Given the description of an element on the screen output the (x, y) to click on. 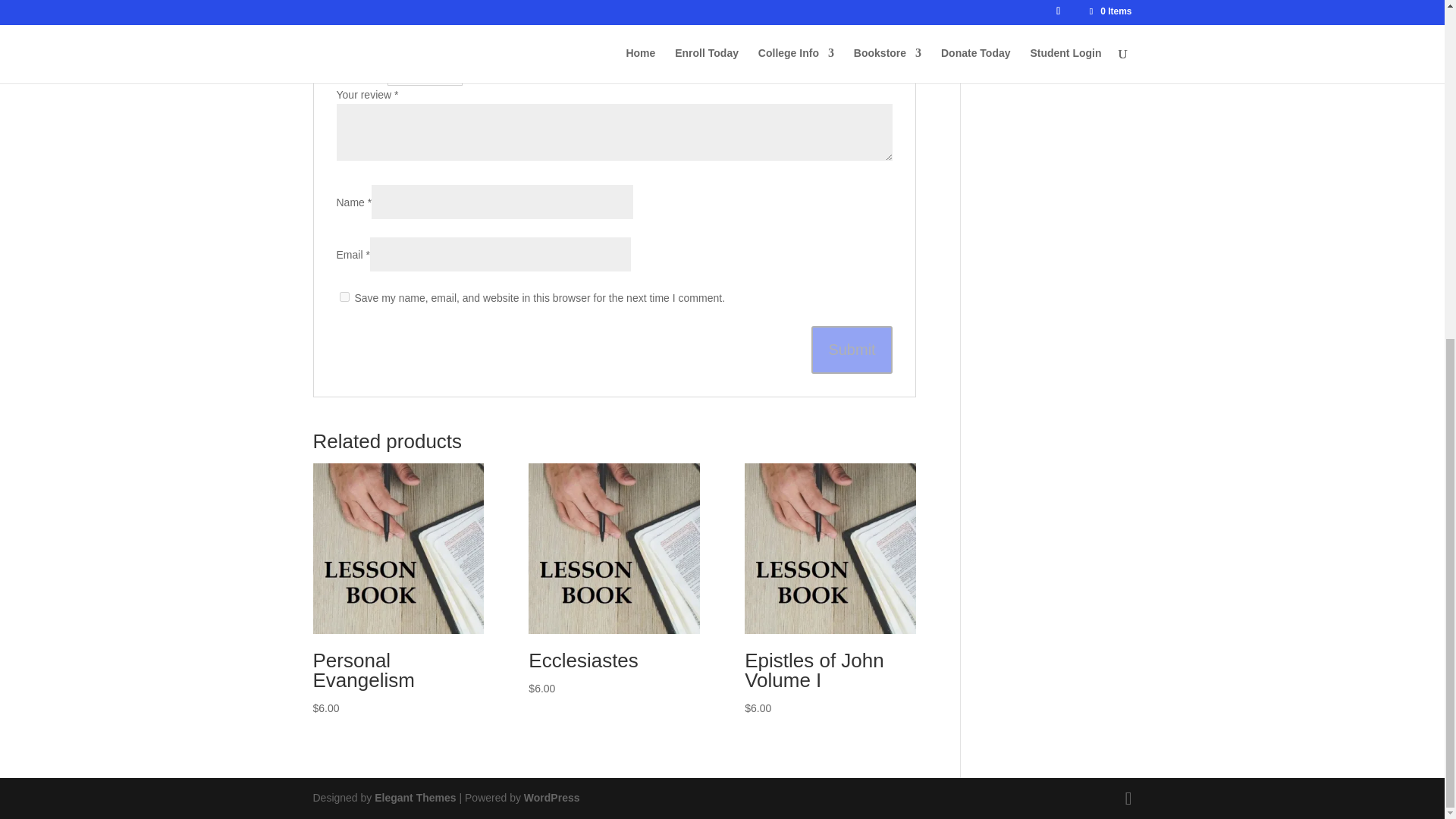
Submit (850, 349)
WordPress (551, 797)
Elegant Themes (414, 797)
Premium WordPress Themes (414, 797)
Submit (850, 349)
yes (344, 296)
